Given the description of an element on the screen output the (x, y) to click on. 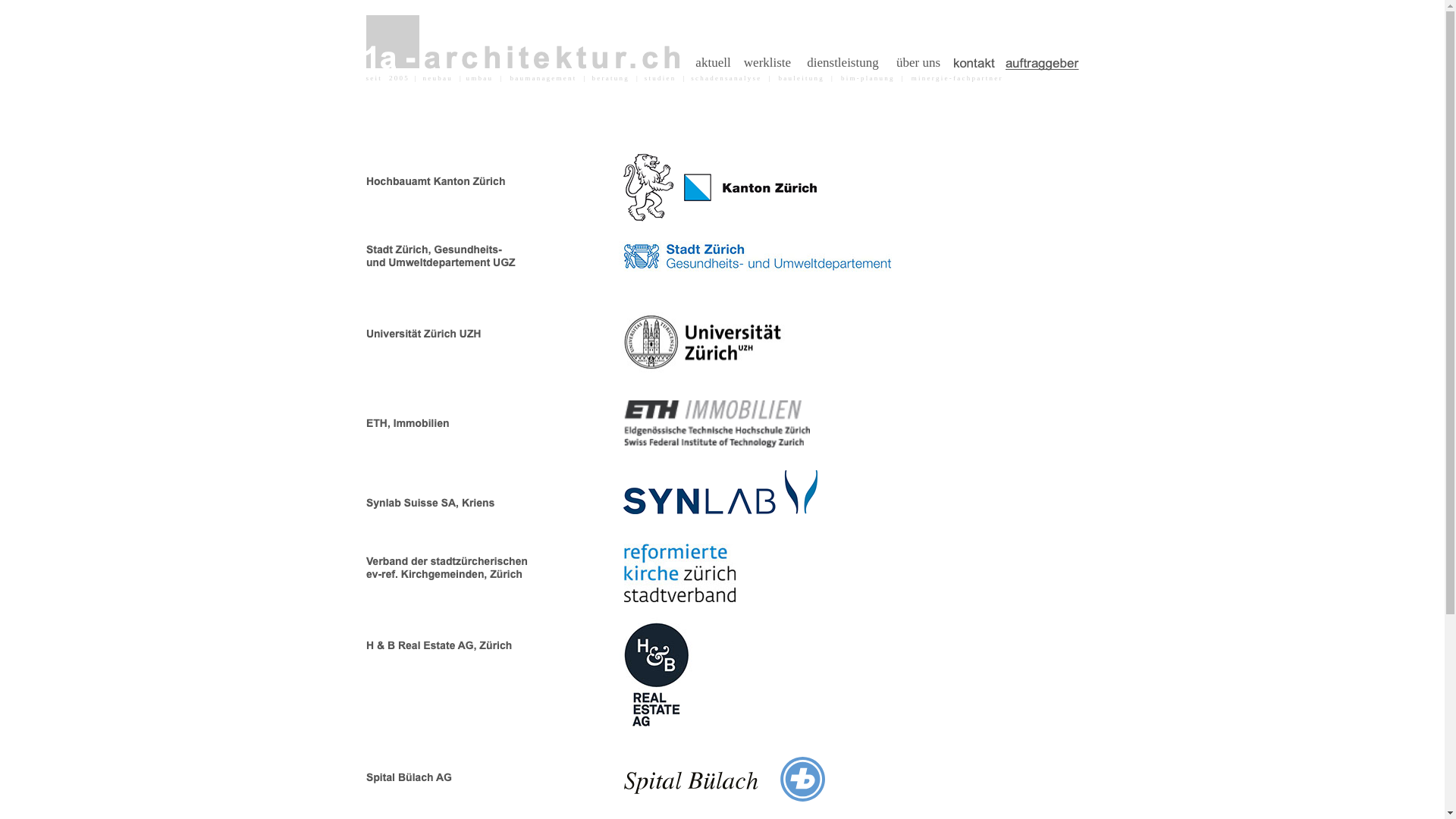
werkliste Element type: text (767, 62)
dienstleistung Element type: text (843, 62)
aktuell Element type: text (713, 62)
